Given the description of an element on the screen output the (x, y) to click on. 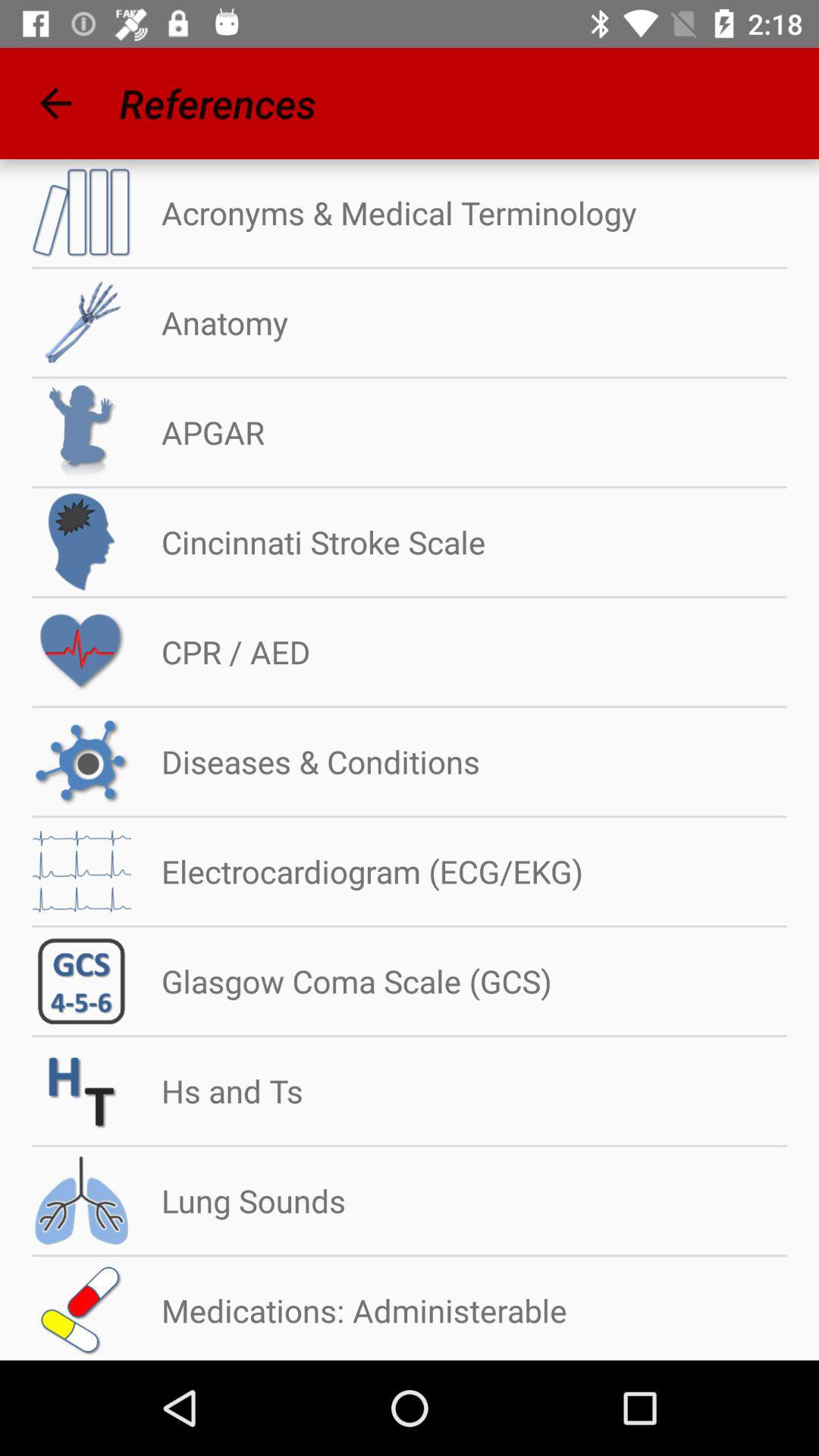
jump until the apgar (197, 432)
